Given the description of an element on the screen output the (x, y) to click on. 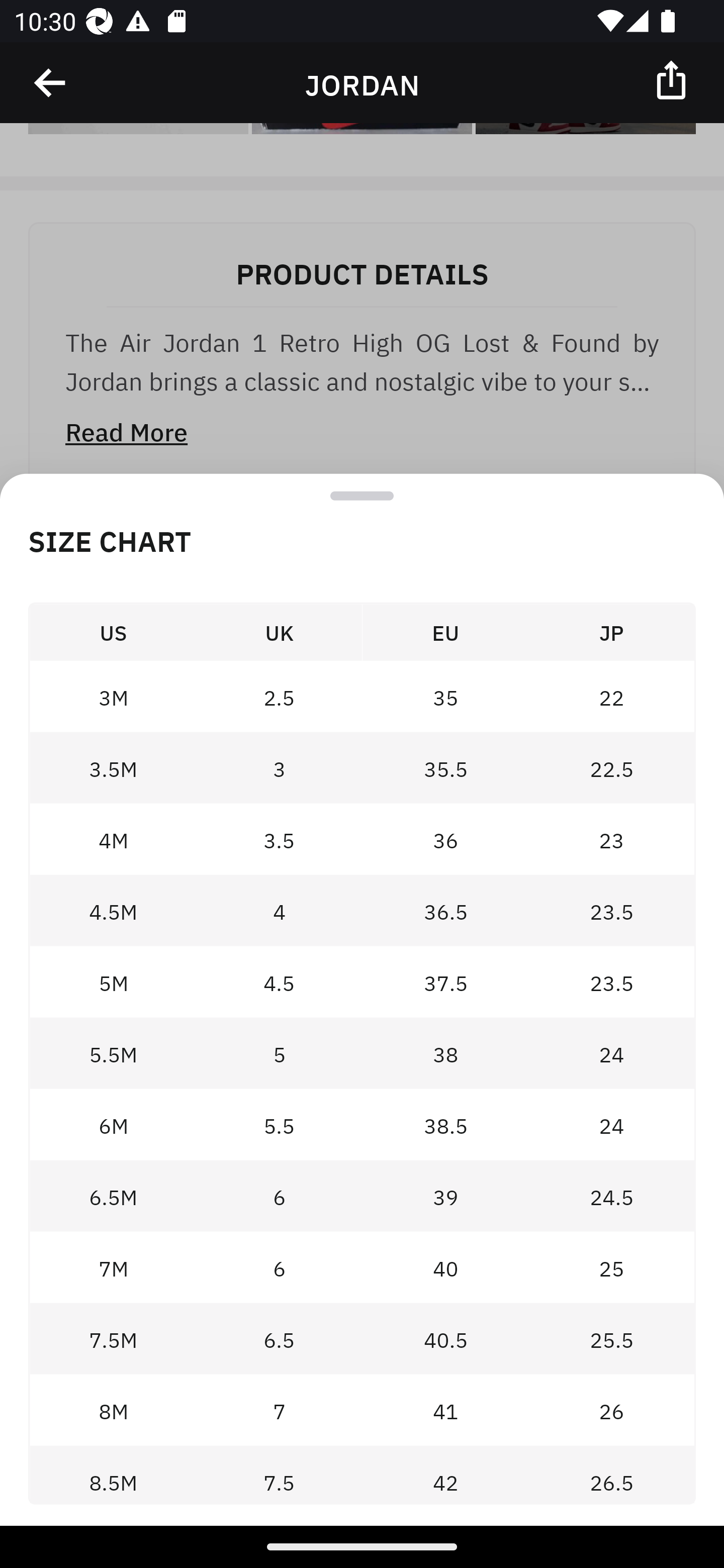
 (50, 83)
 (672, 79)
